Given the description of an element on the screen output the (x, y) to click on. 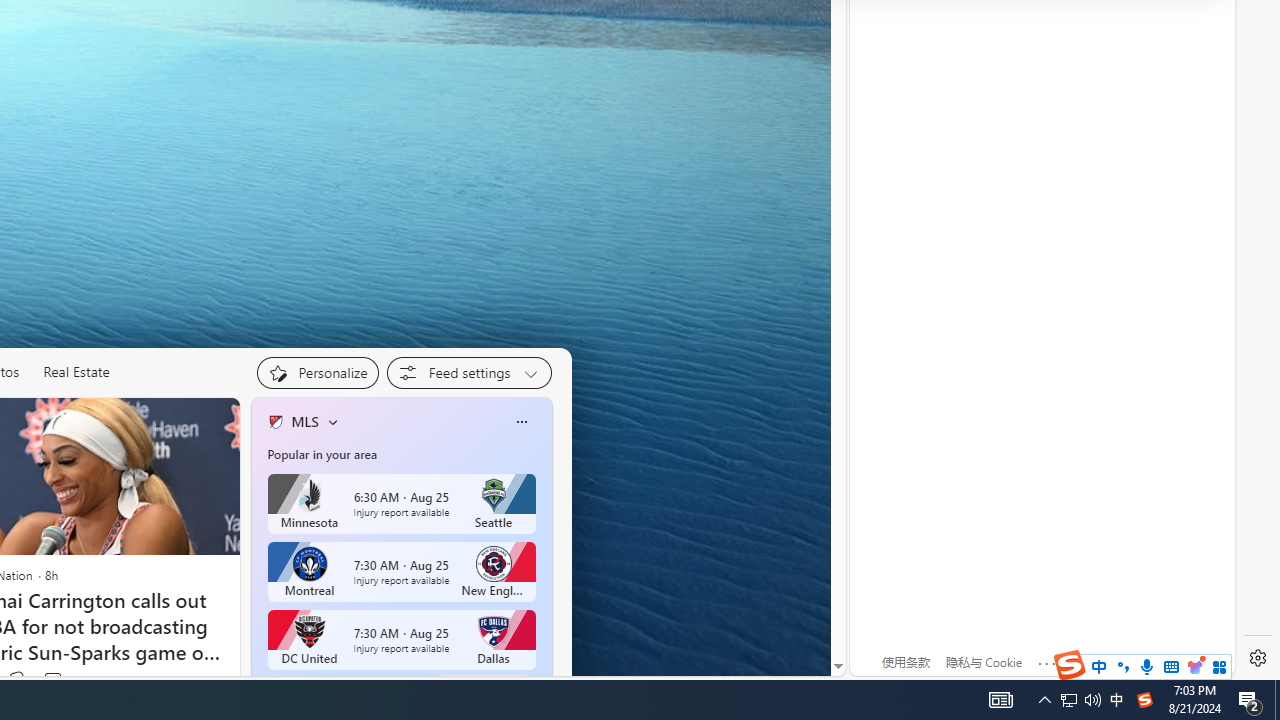
View comments 7 Comment (52, 679)
See more MLS (484, 685)
